Given the description of an element on the screen output the (x, y) to click on. 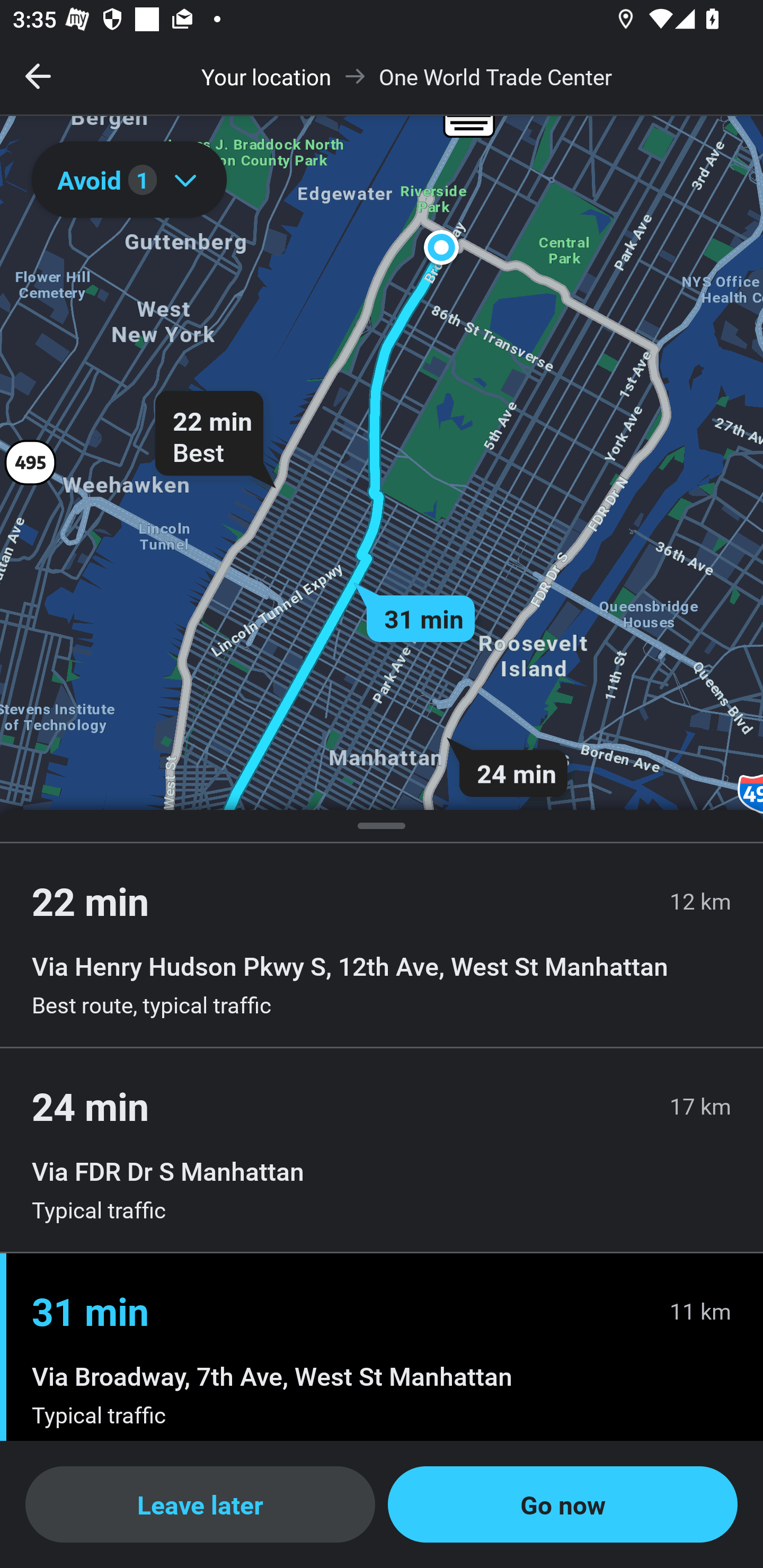
Leave later (200, 1504)
Go now (562, 1504)
